Given the description of an element on the screen output the (x, y) to click on. 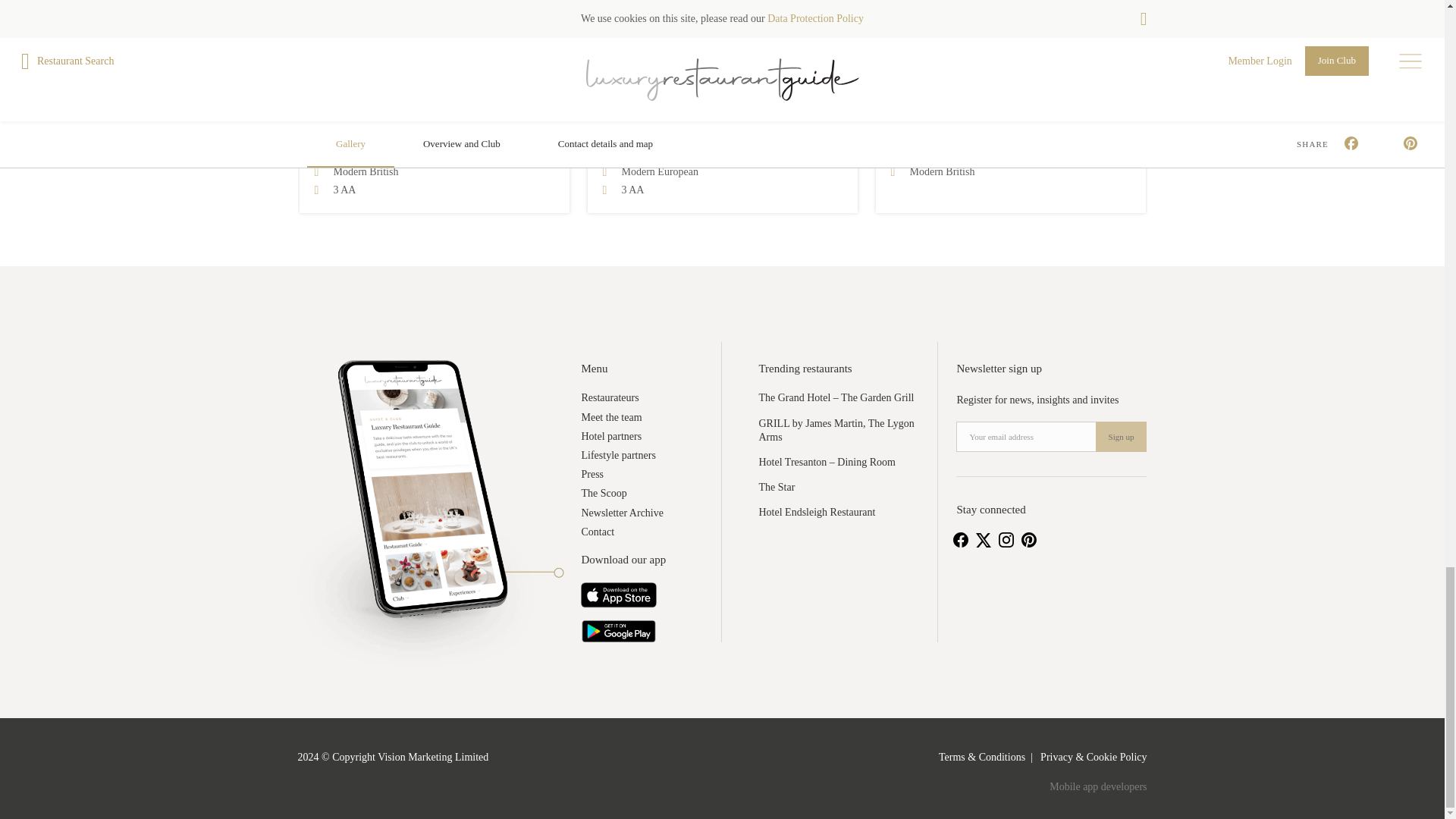
Sign up (1121, 436)
Lightflows Digital Agency (1098, 787)
